Given the description of an element on the screen output the (x, y) to click on. 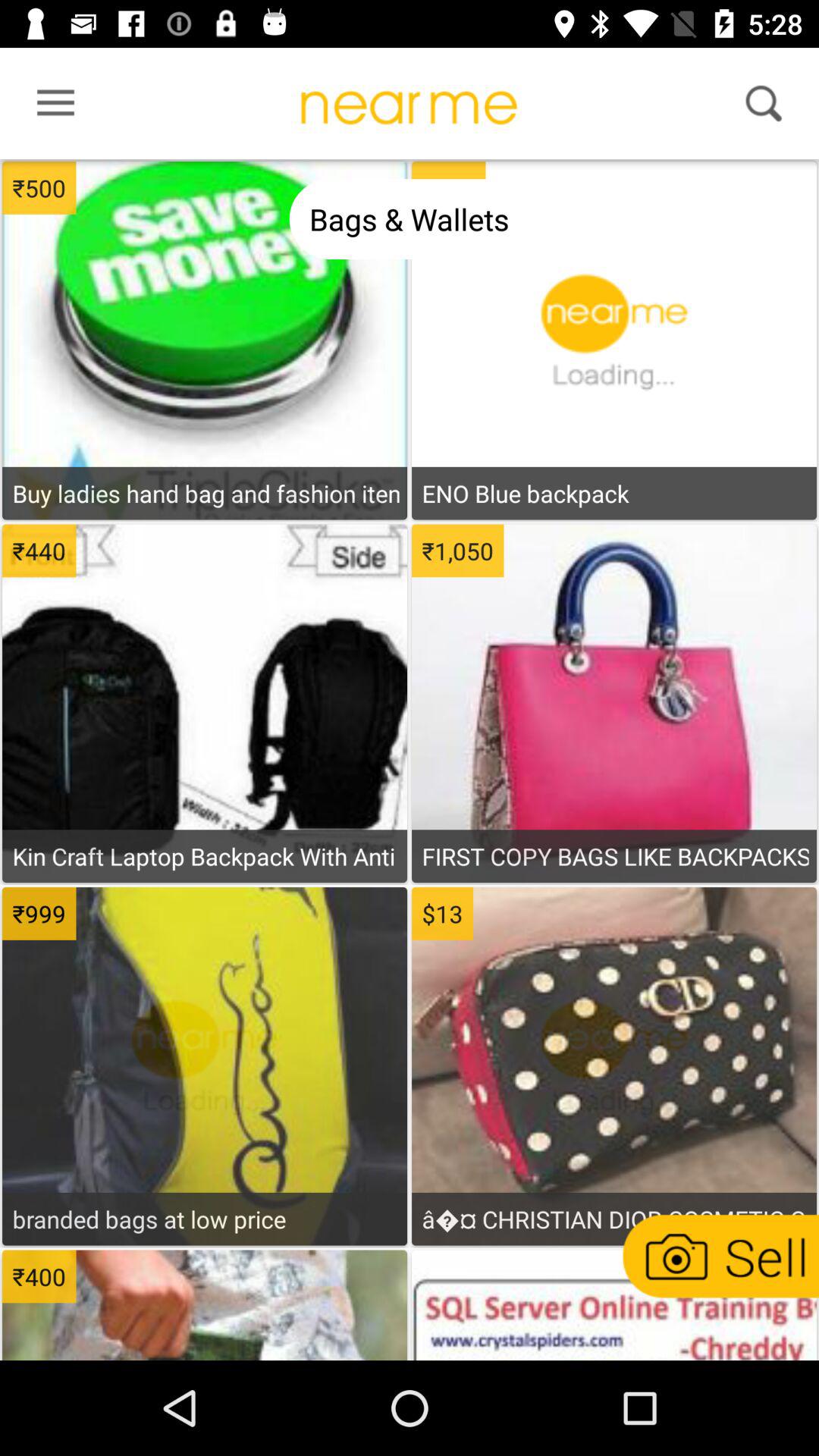
open buy menu (205, 545)
